Given the description of an element on the screen output the (x, y) to click on. 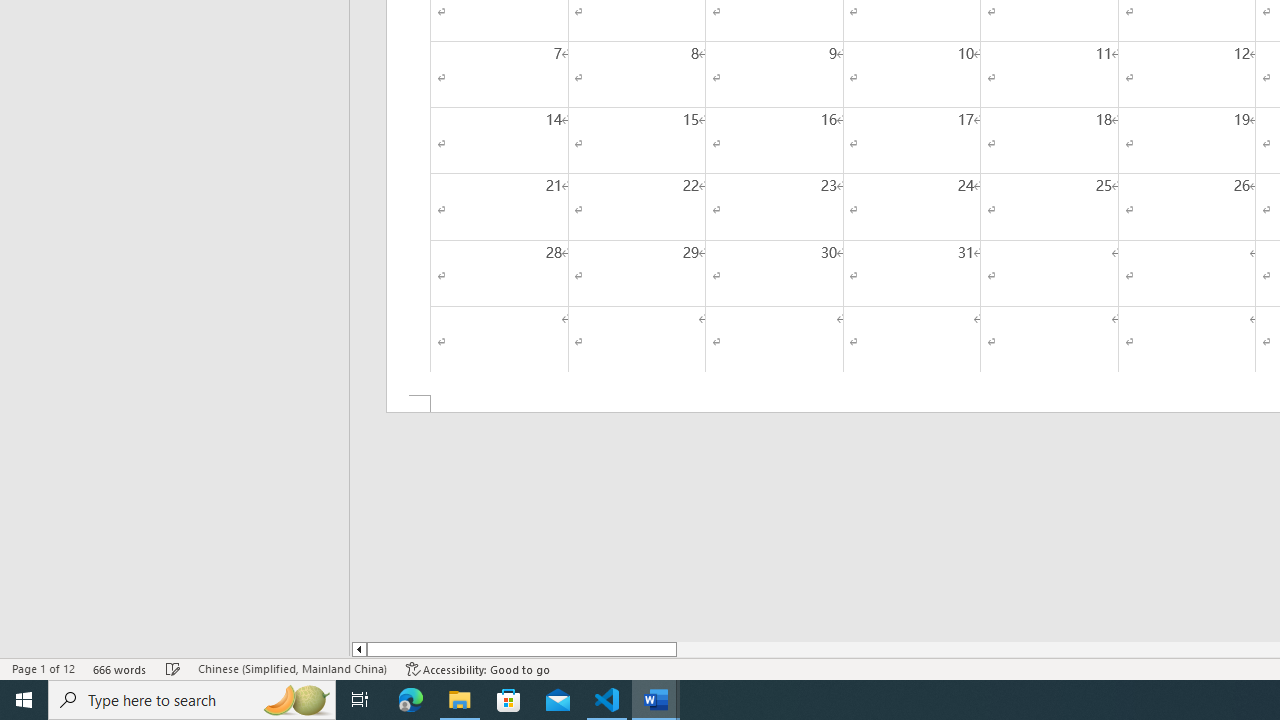
Spelling and Grammar Check Checking (173, 668)
Word Count 666 words (119, 668)
Column left (358, 649)
Accessibility Checker Accessibility: Good to go (478, 668)
Page Number Page 1 of 12 (43, 668)
Language Chinese (Simplified, Mainland China) (292, 668)
